Given the description of an element on the screen output the (x, y) to click on. 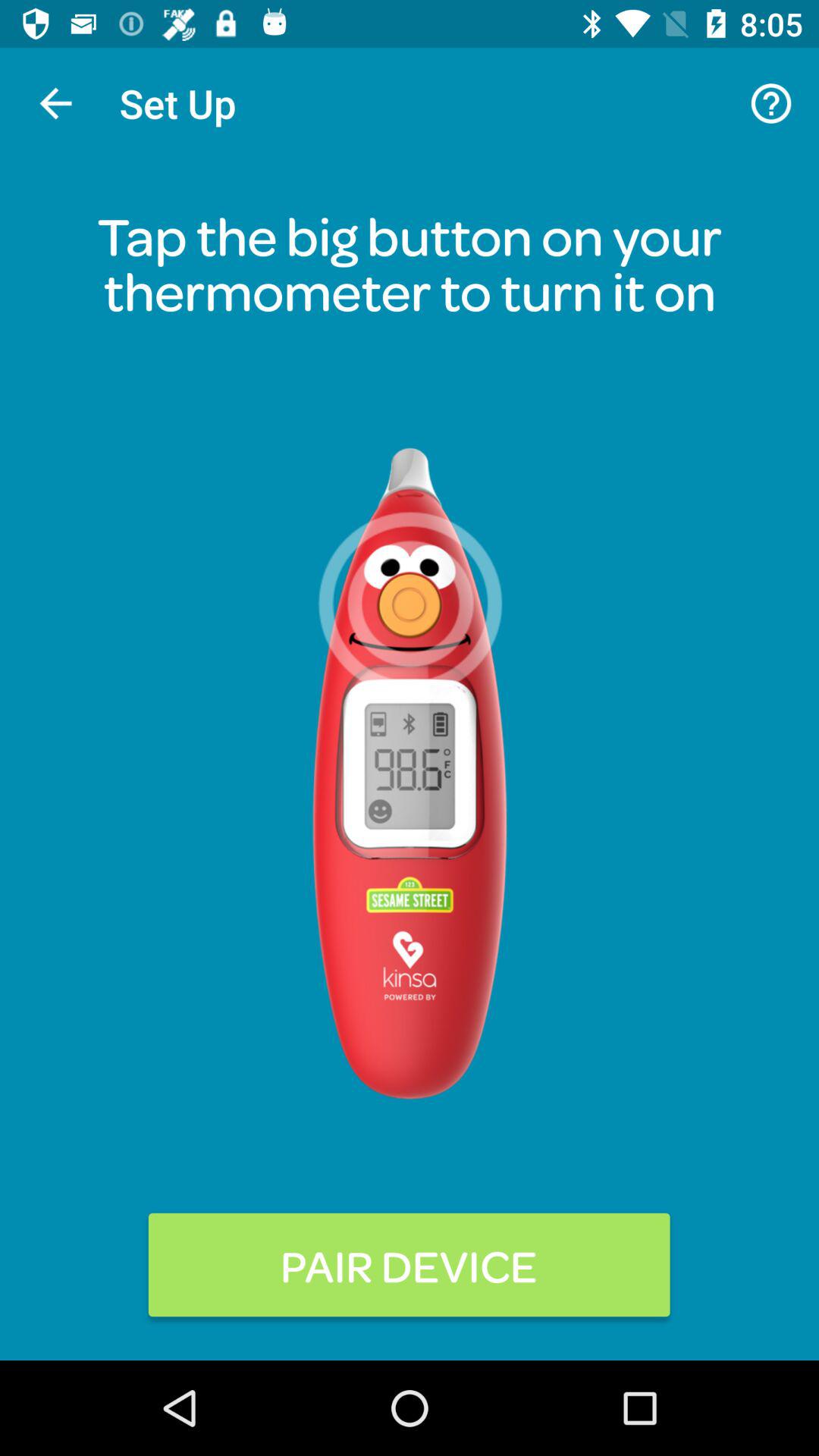
turn on item to the right of the set up icon (771, 103)
